Given the description of an element on the screen output the (x, y) to click on. 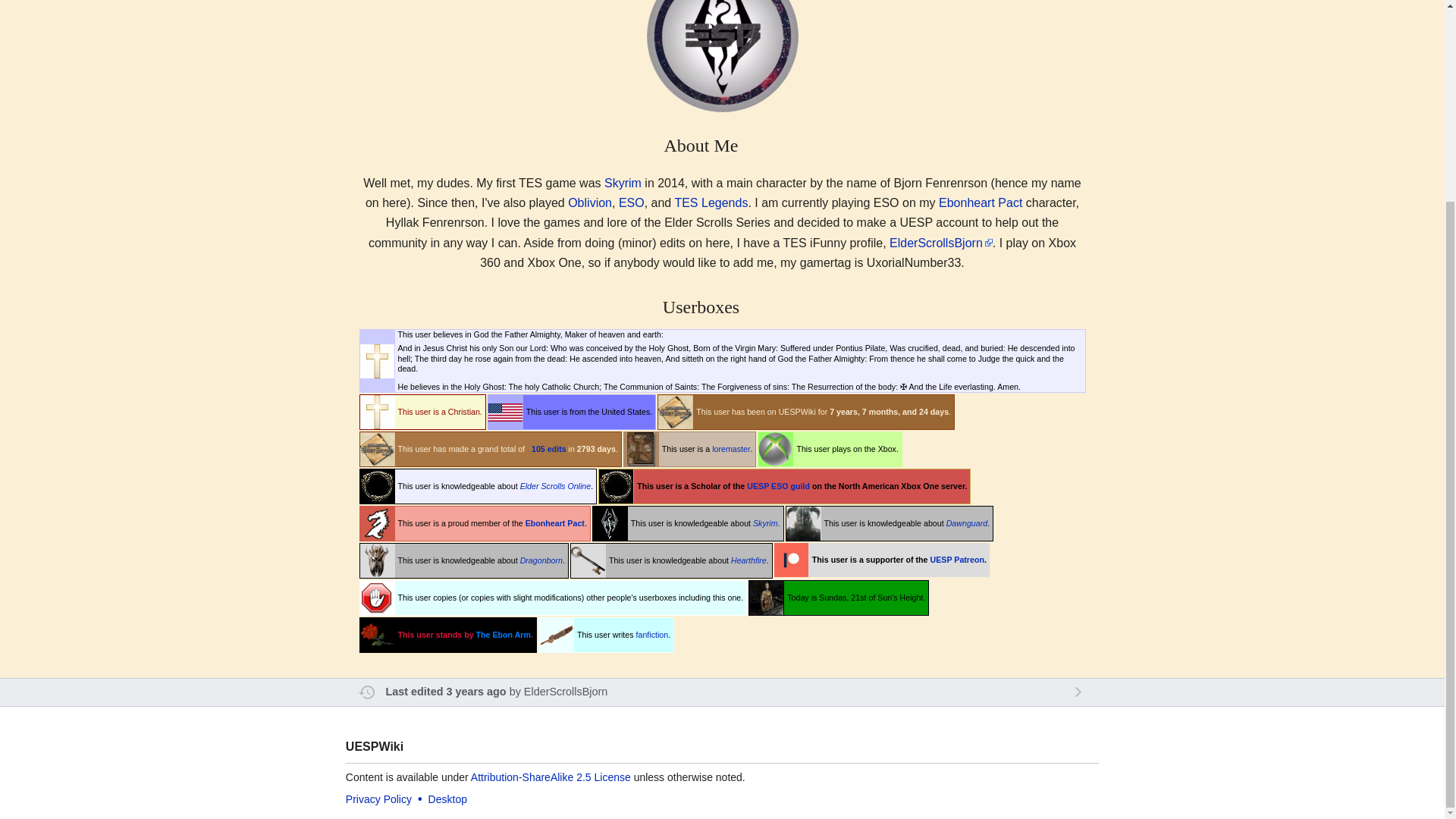
Online:Online (631, 202)
Lore:Main Page (730, 448)
TES Legends (711, 202)
Legends:Legends (711, 202)
105 (537, 448)
loremaster (730, 448)
Ebonheart Pact (980, 202)
ESO (631, 202)
Skyrim:Skyrim (623, 182)
edits (556, 448)
Online:Ebonheart Pact (980, 202)
Oblivion (589, 202)
Oblivion:Oblivion (589, 202)
ElderScrollsBjorn (940, 242)
Skyrim (623, 182)
